Given the description of an element on the screen output the (x, y) to click on. 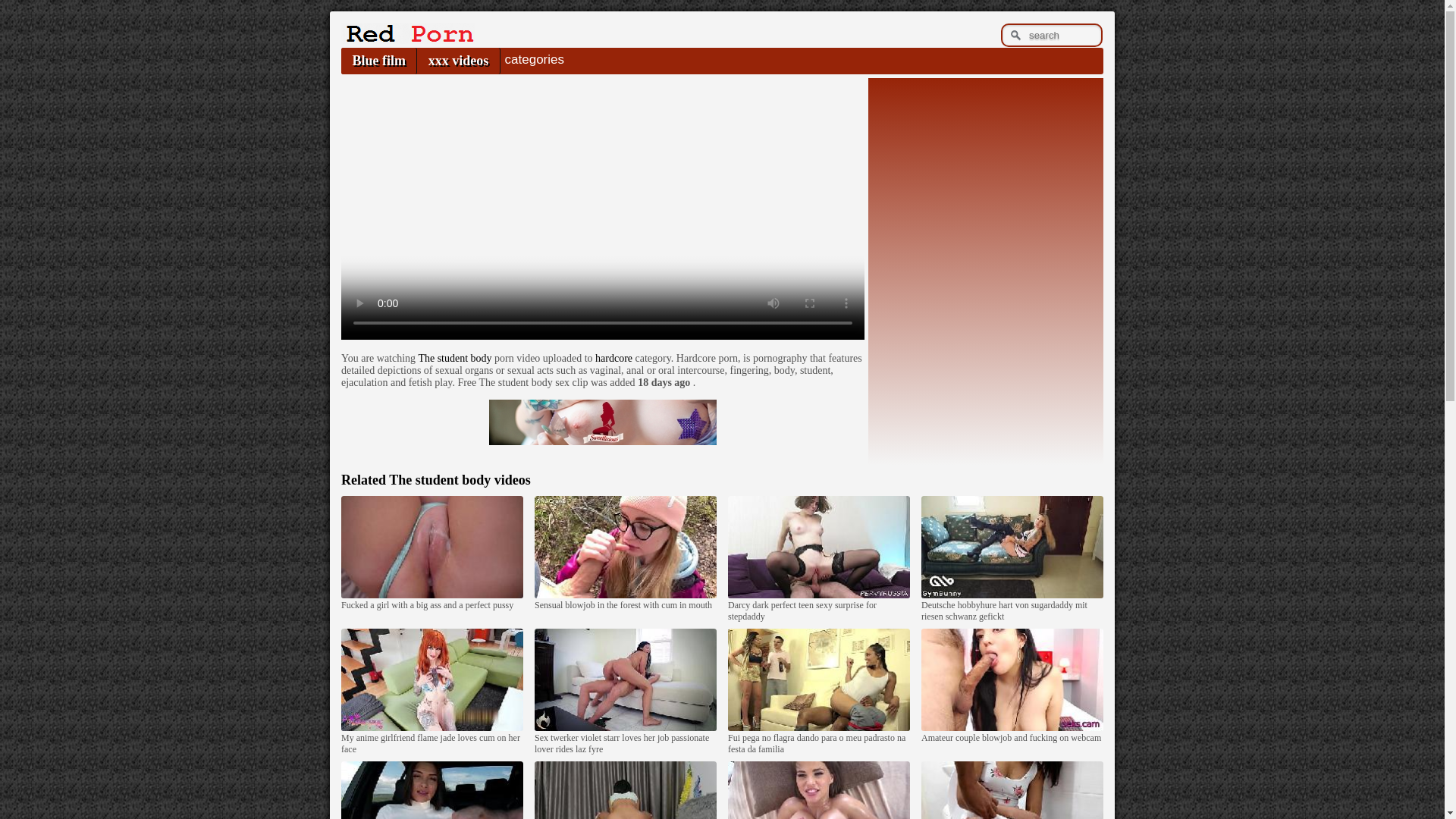
The student body (454, 357)
xxx videos (457, 60)
Indian Porn (407, 39)
xxx videos (457, 60)
categories (533, 59)
Blue film (378, 60)
Blue film (378, 60)
hardcore (613, 357)
The student body videos (459, 479)
